Given the description of an element on the screen output the (x, y) to click on. 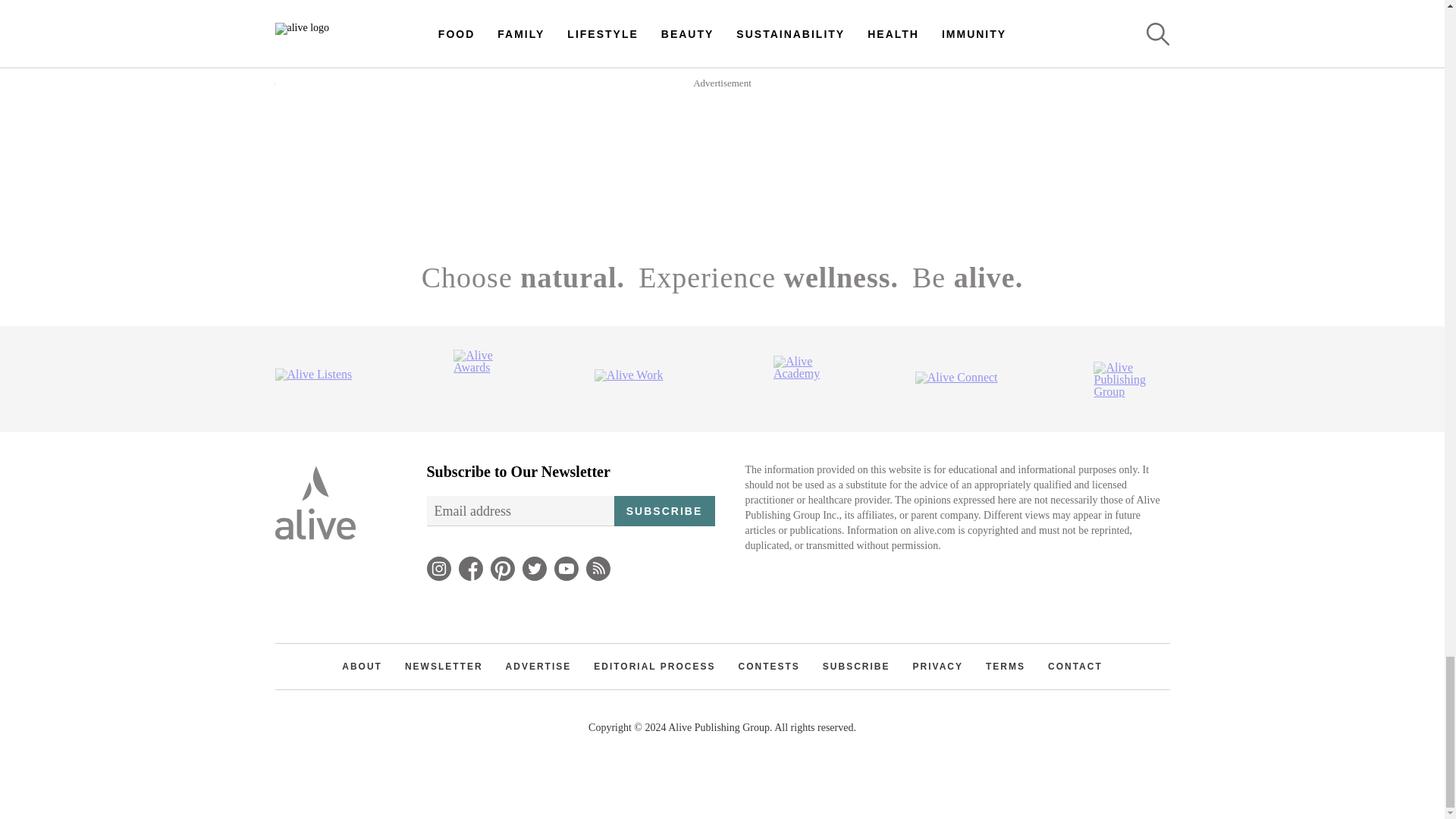
LIFESTYLE (541, 60)
HEALTH (608, 119)
